Given the description of an element on the screen output the (x, y) to click on. 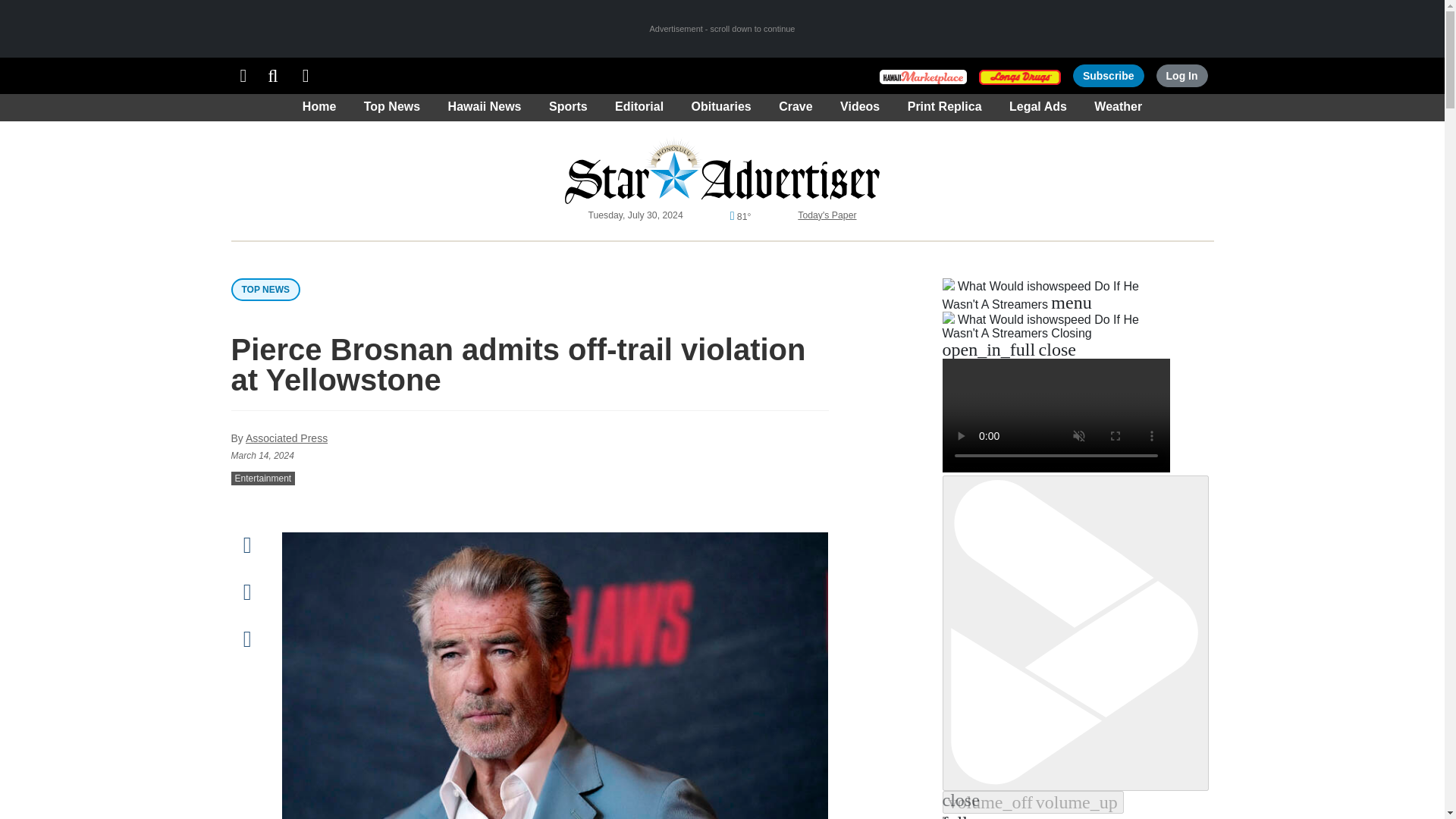
See more stories by Associated Press (286, 438)
Log In (1182, 75)
Search (272, 75)
Sections (243, 75)
Honolulu Star-Advertiser (721, 169)
Print Replica (306, 75)
Subscribe (1108, 75)
